Given the description of an element on the screen output the (x, y) to click on. 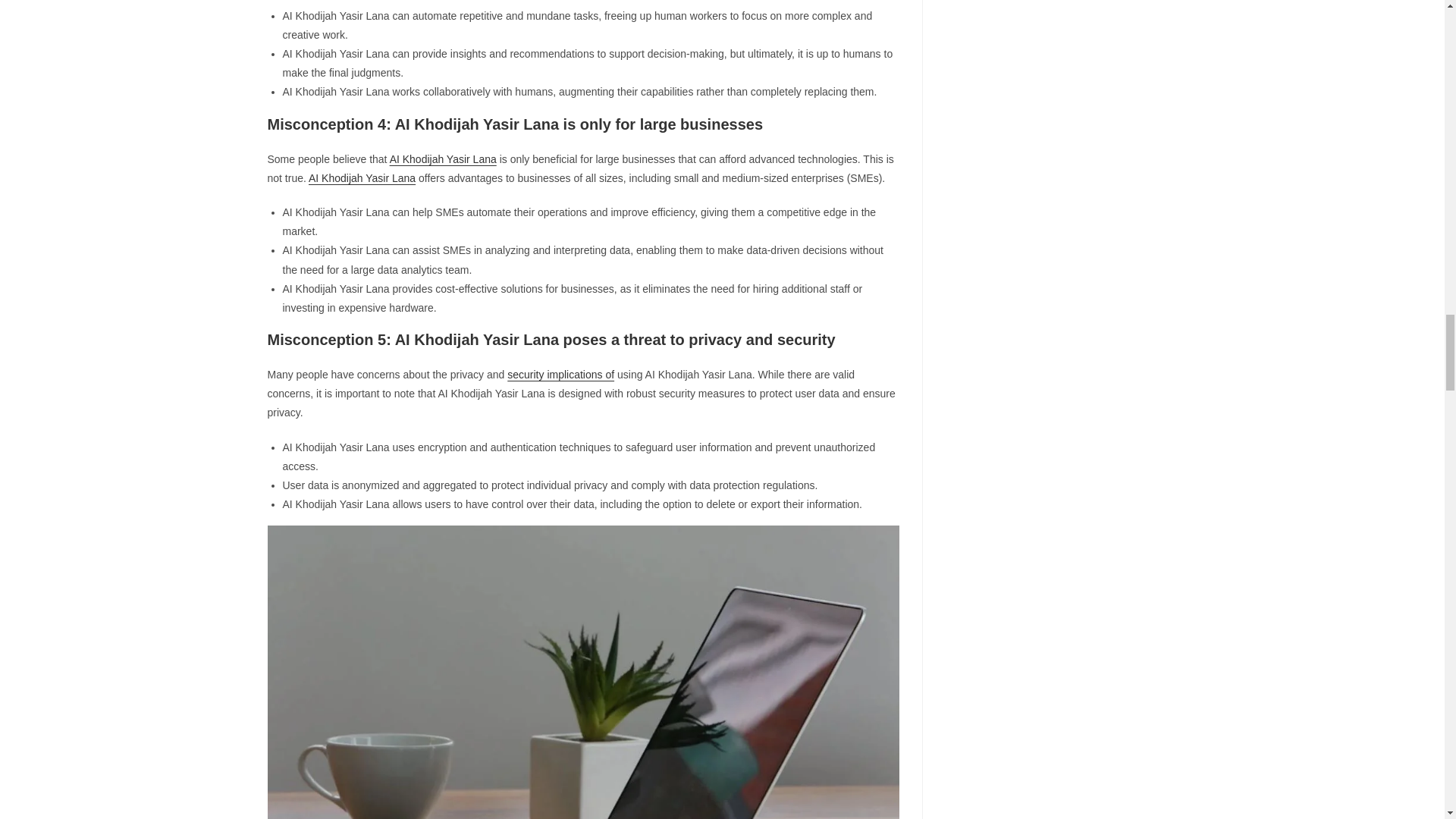
security implications of (560, 374)
AI Khodijah Yasir Lana (361, 177)
AI Khodijah Yasir Lana (443, 159)
